Given the description of an element on the screen output the (x, y) to click on. 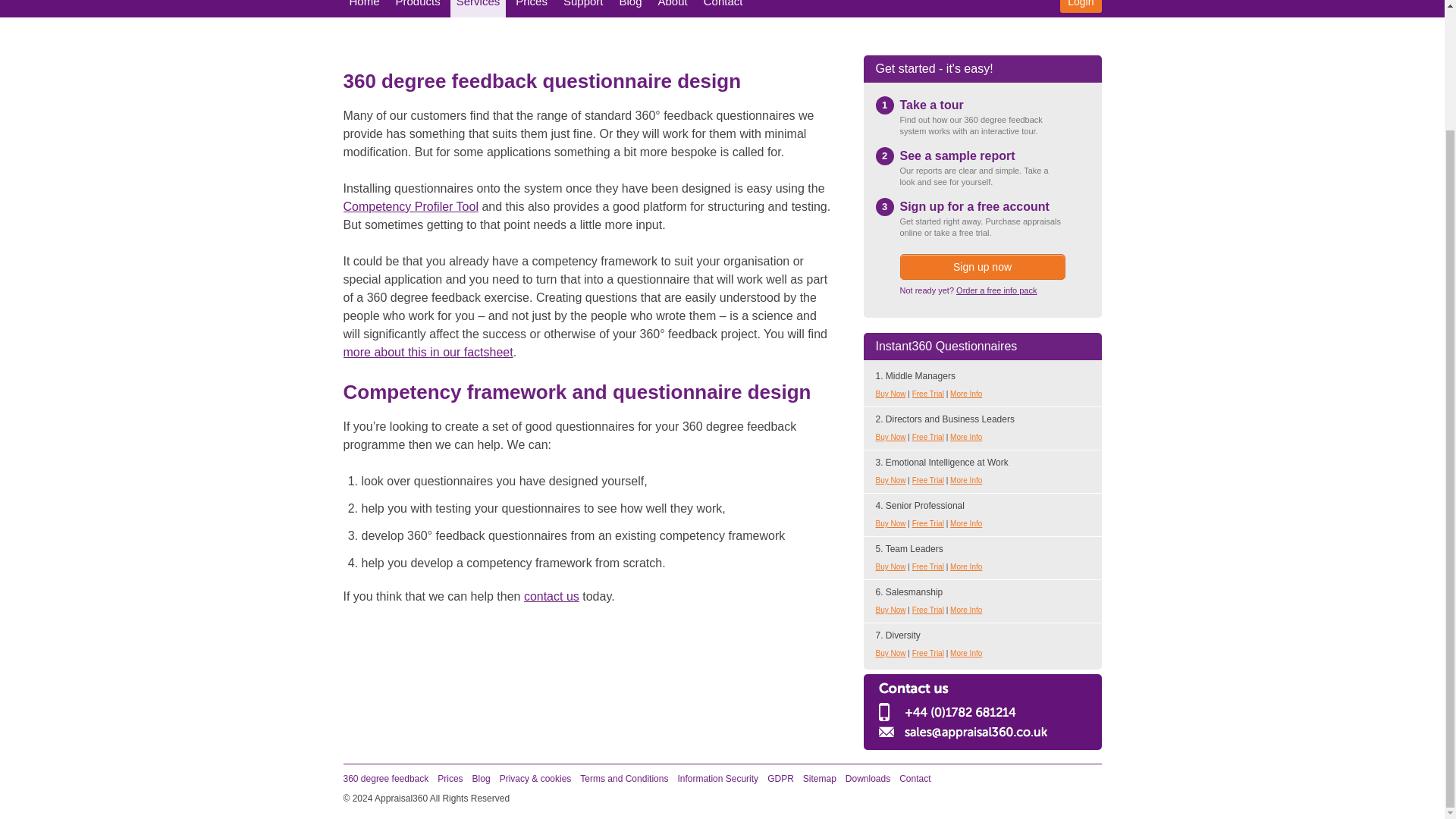
Build Bespoke Questionnaires (409, 205)
360 degree feedback home (385, 778)
Prices for 30 degree feedback surveys (450, 778)
Designing 360 degree feedback questionnaires (427, 351)
Download 360 degree feedback resources (867, 778)
Latest 360 feedback news (480, 778)
